Given the description of an element on the screen output the (x, y) to click on. 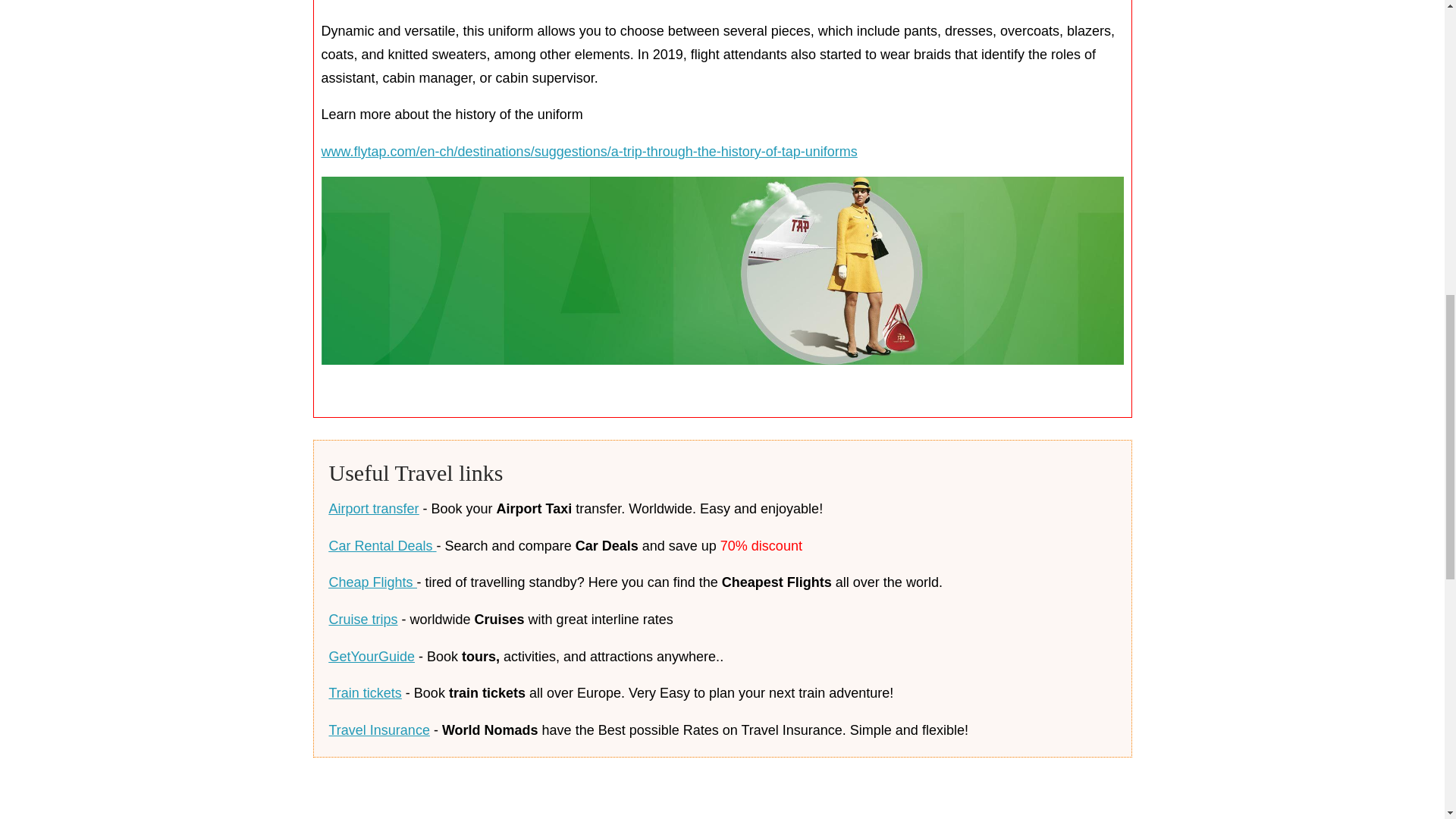
Airport transfer (374, 508)
GetYourGuide (371, 656)
Cheap Flights (372, 581)
Cruise trips (363, 619)
Car Rental Deals (382, 545)
Travel Insurance (379, 729)
Hotel Section (722, 796)
Train tickets (365, 693)
